Given the description of an element on the screen output the (x, y) to click on. 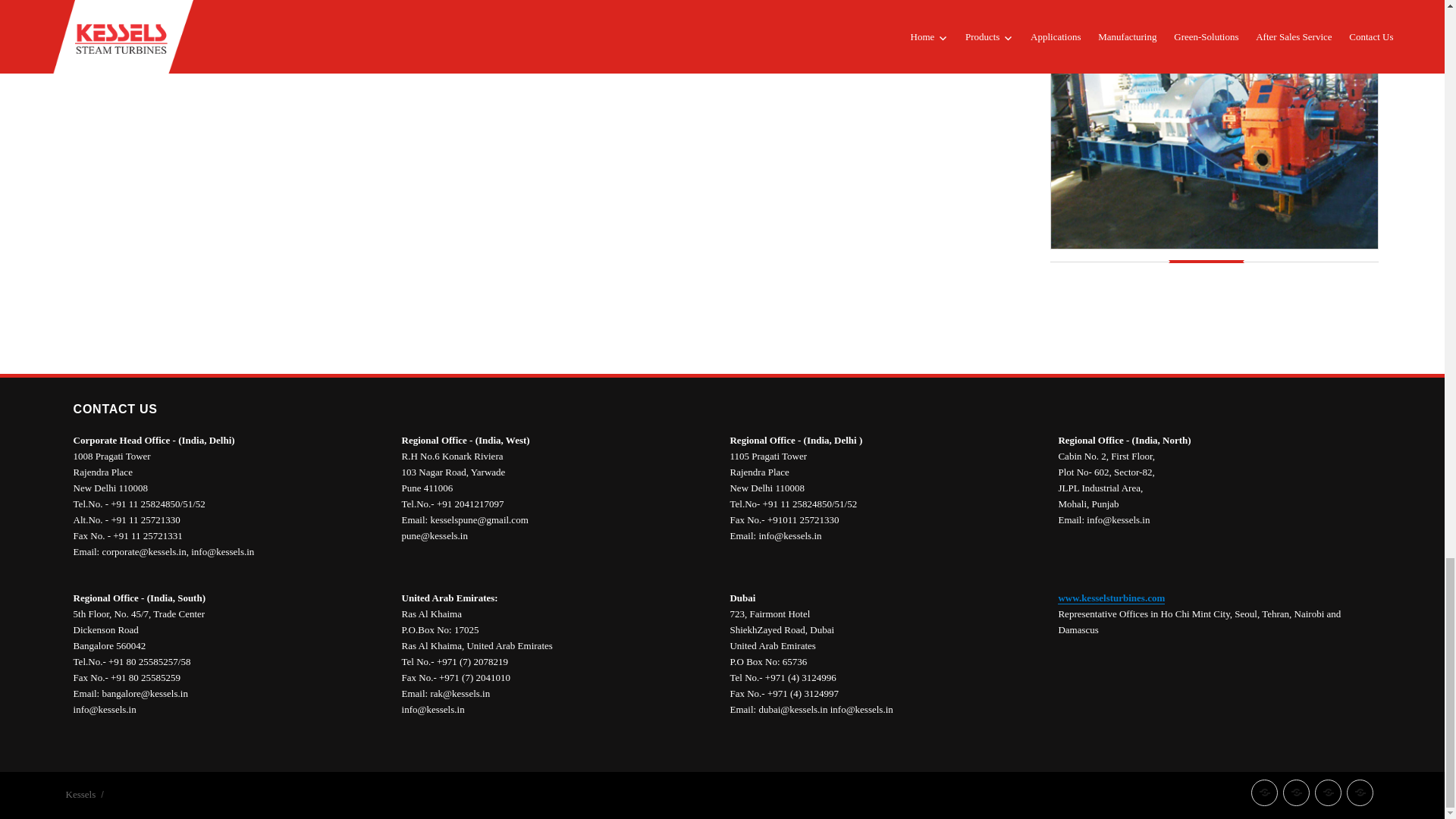
www.kesselsturbines.com (1111, 597)
